Given the description of an element on the screen output the (x, y) to click on. 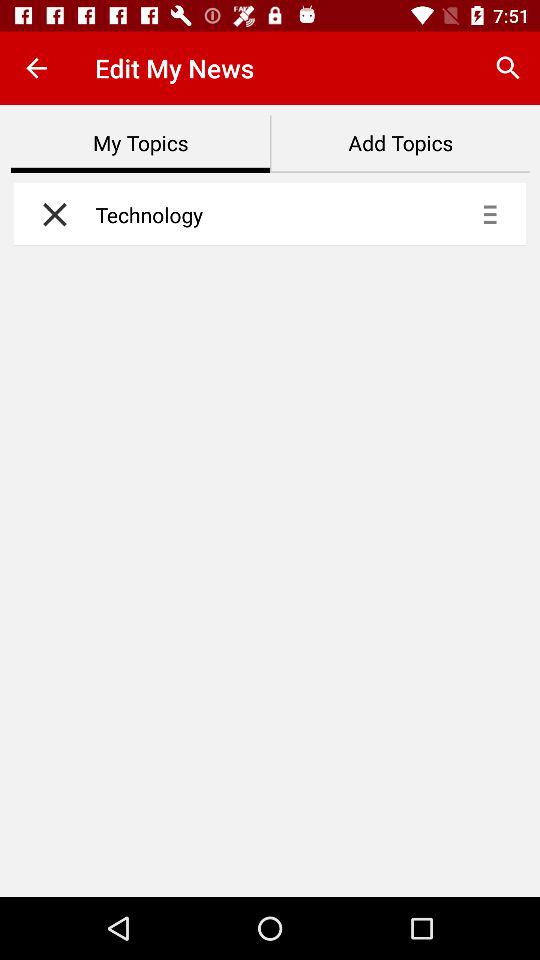
click item next to the technology (49, 214)
